Given the description of an element on the screen output the (x, y) to click on. 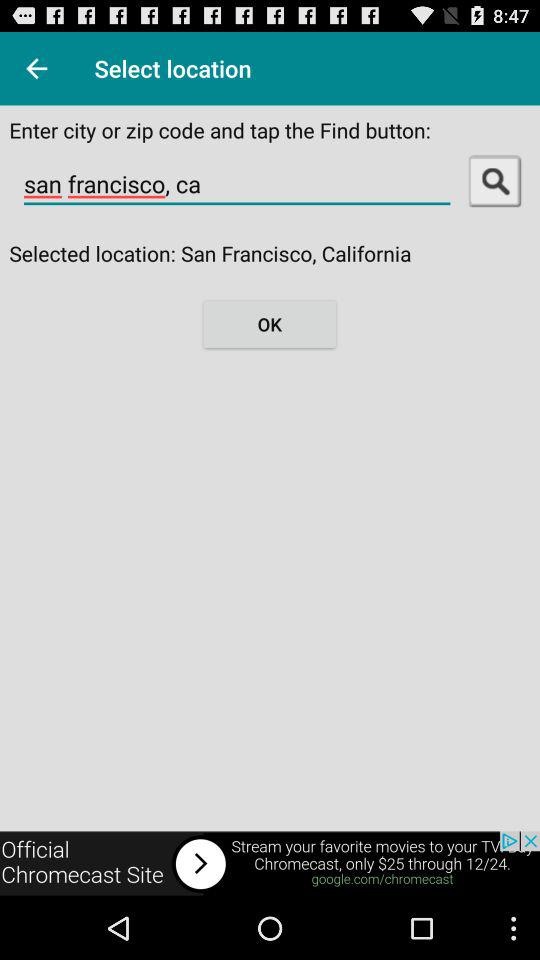
search page (494, 180)
